Given the description of an element on the screen output the (x, y) to click on. 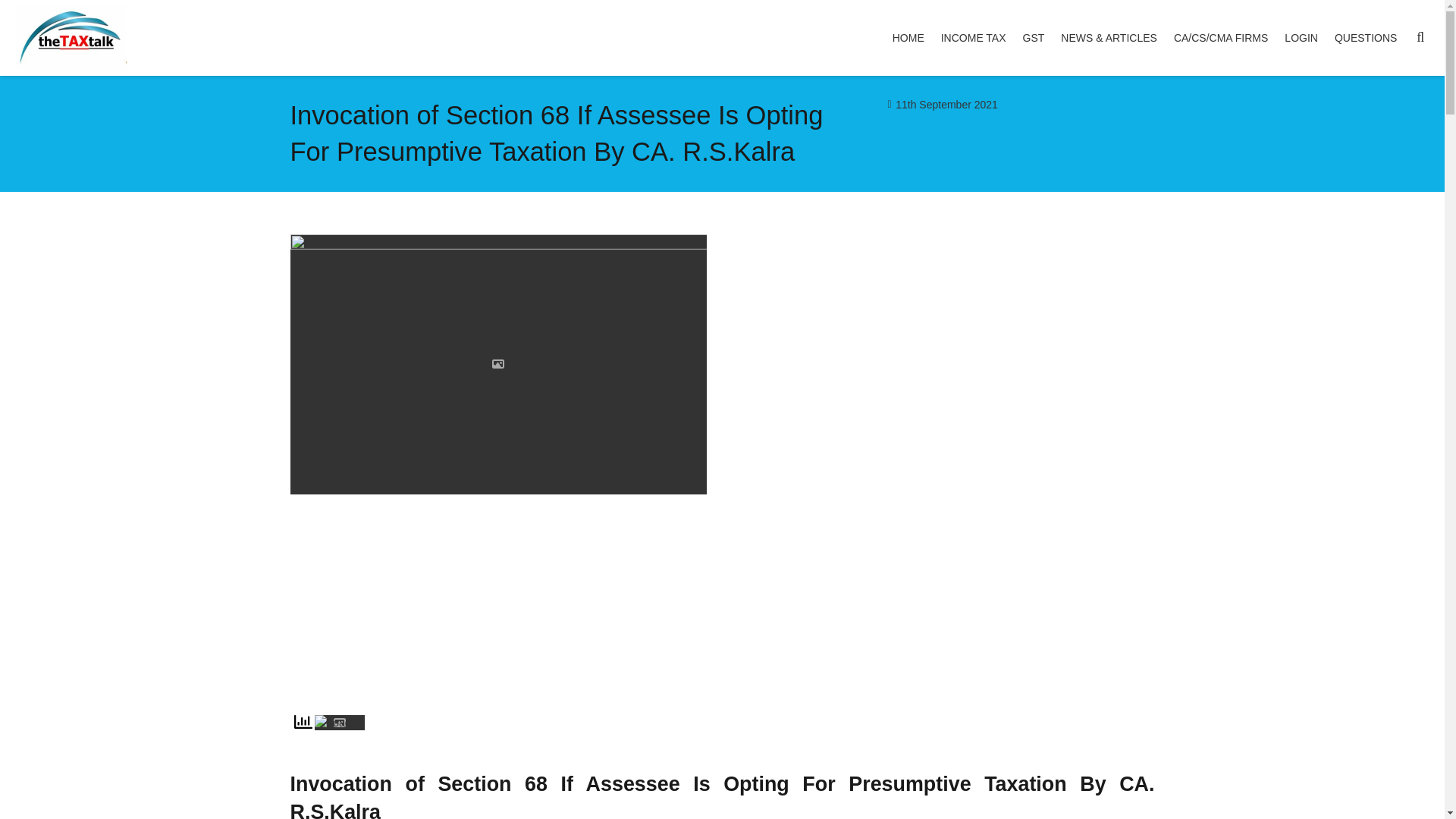
Advertisement (946, 599)
INCOME TAX (973, 38)
